Given the description of an element on the screen output the (x, y) to click on. 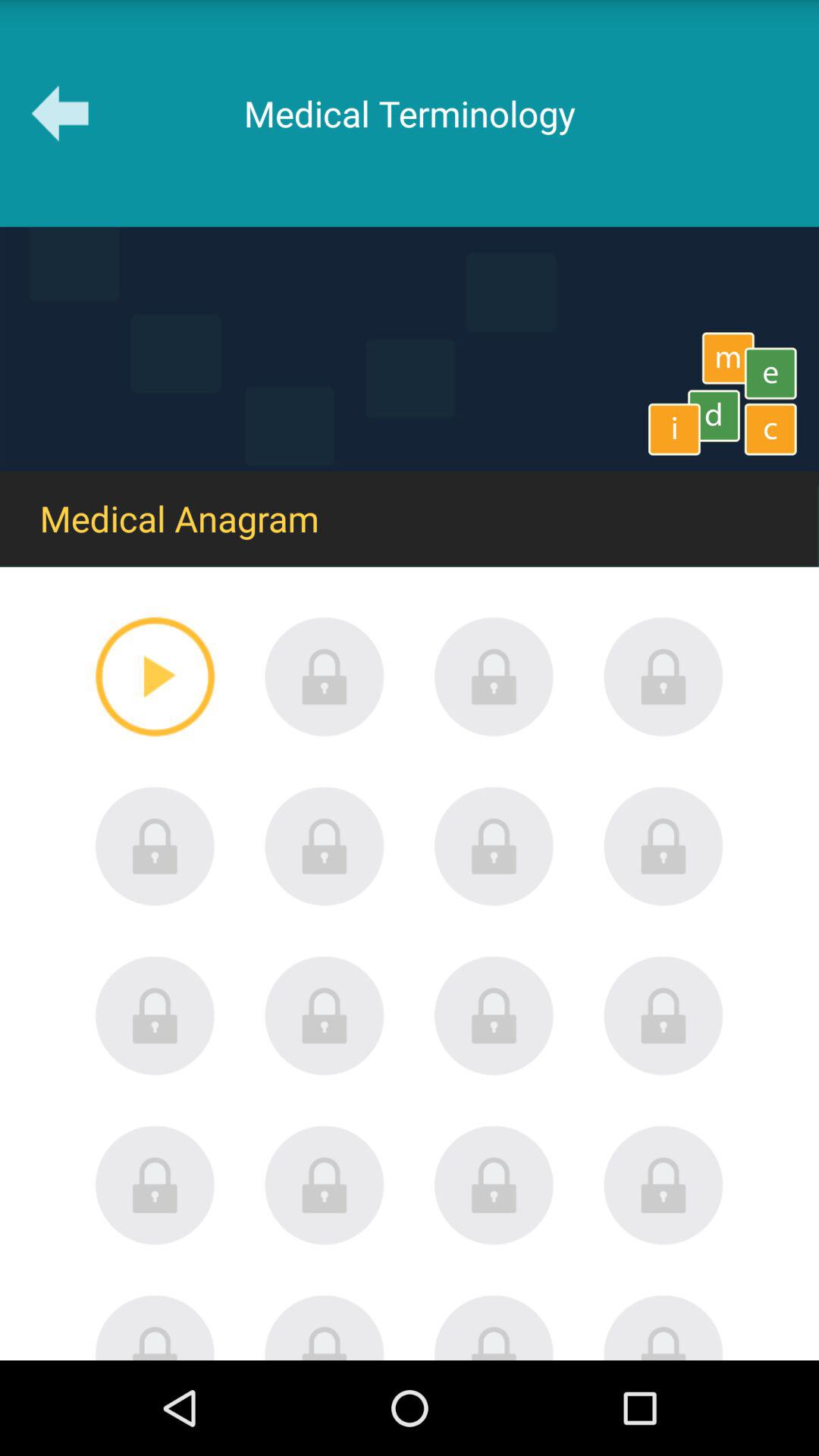
lock the option (154, 1327)
